Given the description of an element on the screen output the (x, y) to click on. 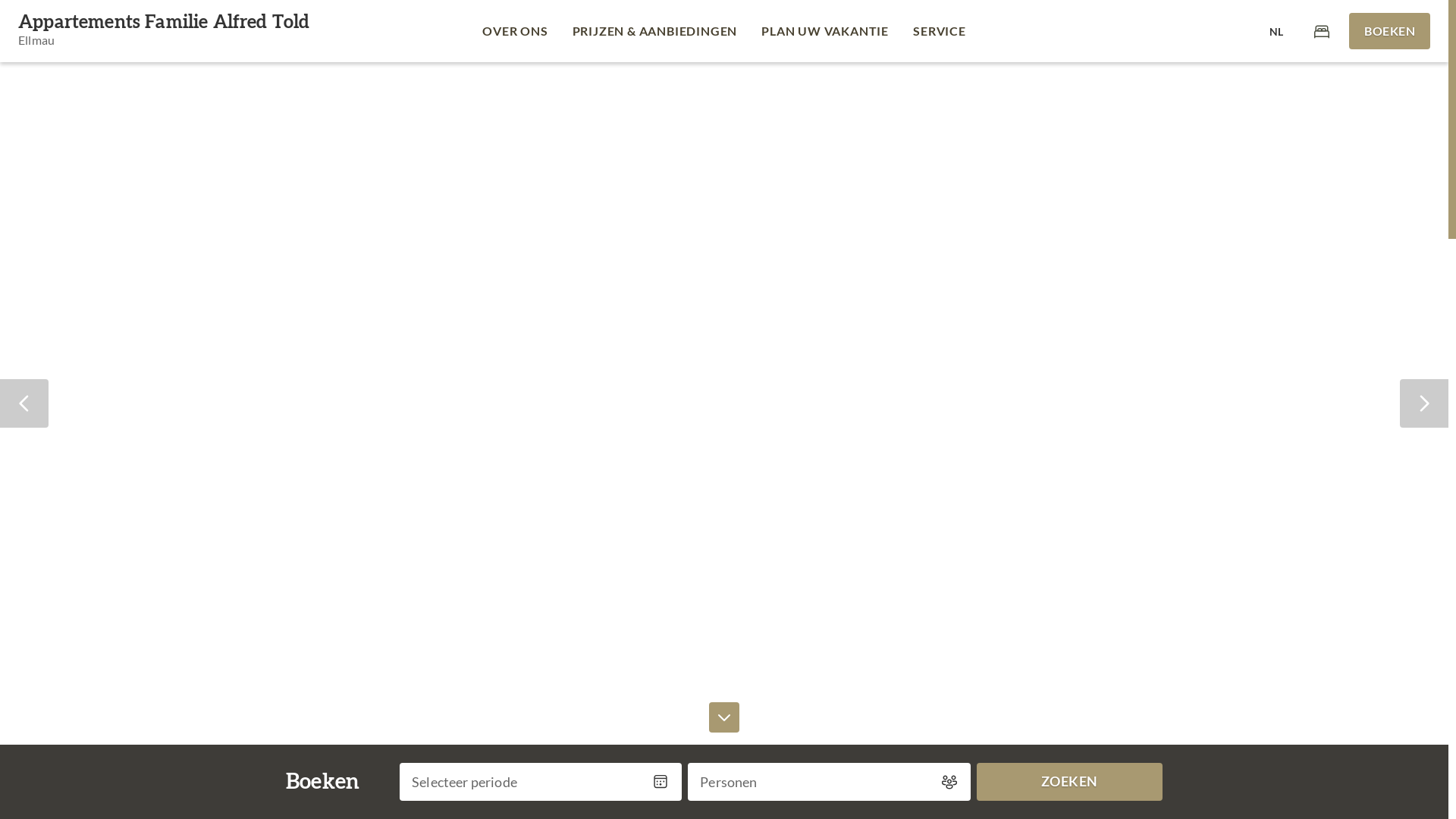
OVER ONS Element type: text (514, 31)
PRIJZEN & AANBIEDINGEN Element type: text (654, 31)
SERVICE Element type: text (939, 31)
Appartements Familie Alfred Told
Ellmau Element type: text (163, 31)
ZOEKEN Element type: text (1069, 781)
0 Element type: text (1321, 30)
PLAN UW VAKANTIE Element type: text (824, 31)
BOEKEN Element type: text (1389, 30)
